Given the description of an element on the screen output the (x, y) to click on. 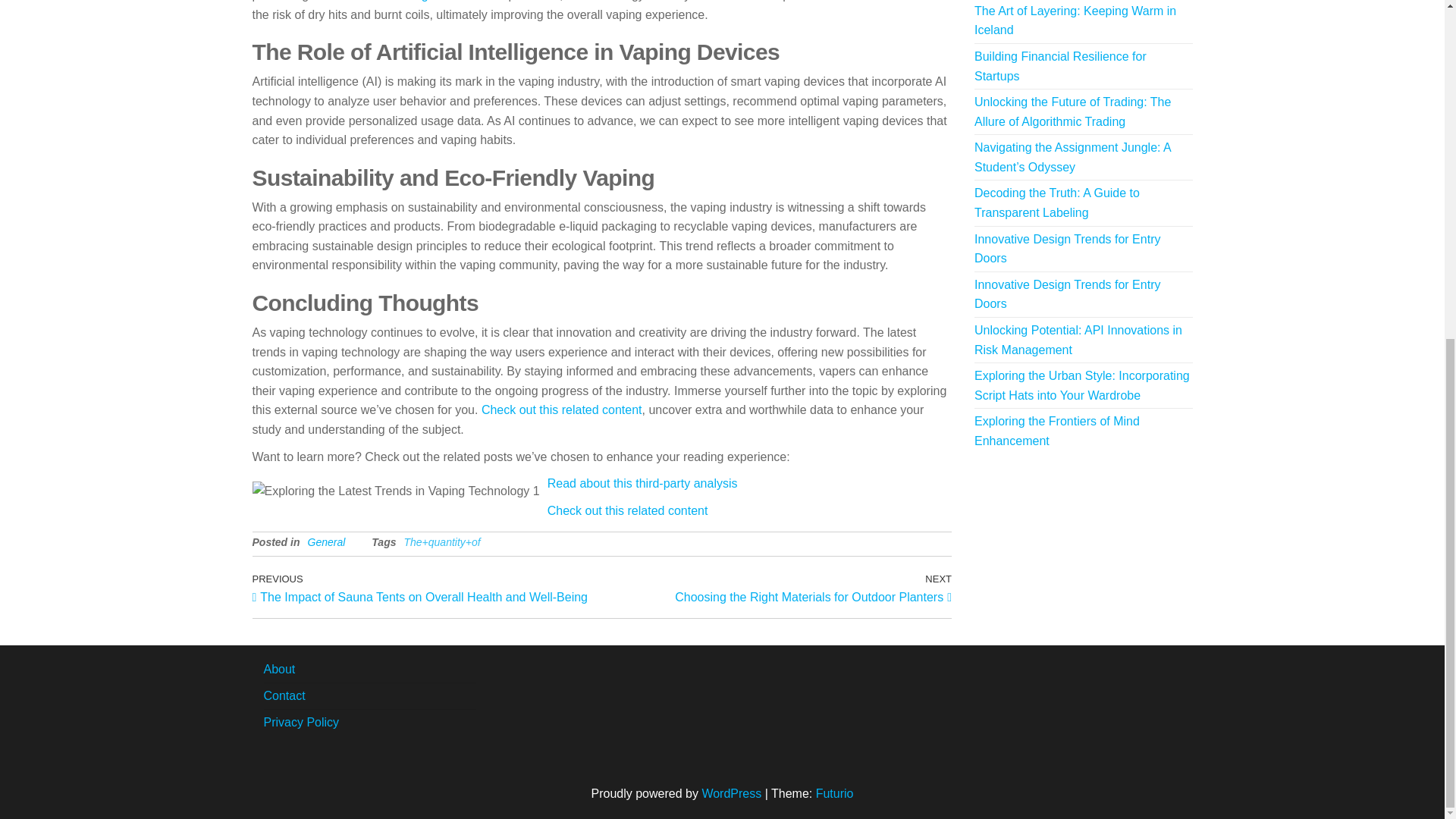
Check out this related content (561, 409)
Read about this third-party analysis (642, 482)
Unlocking Potential: API Innovations in Risk Management (1078, 339)
WordPress (731, 793)
Check out this related content (627, 510)
Futurio (834, 793)
About (279, 668)
Decoding the Truth: A Guide to Transparent Labeling (1057, 202)
Contact (284, 695)
